Given the description of an element on the screen output the (x, y) to click on. 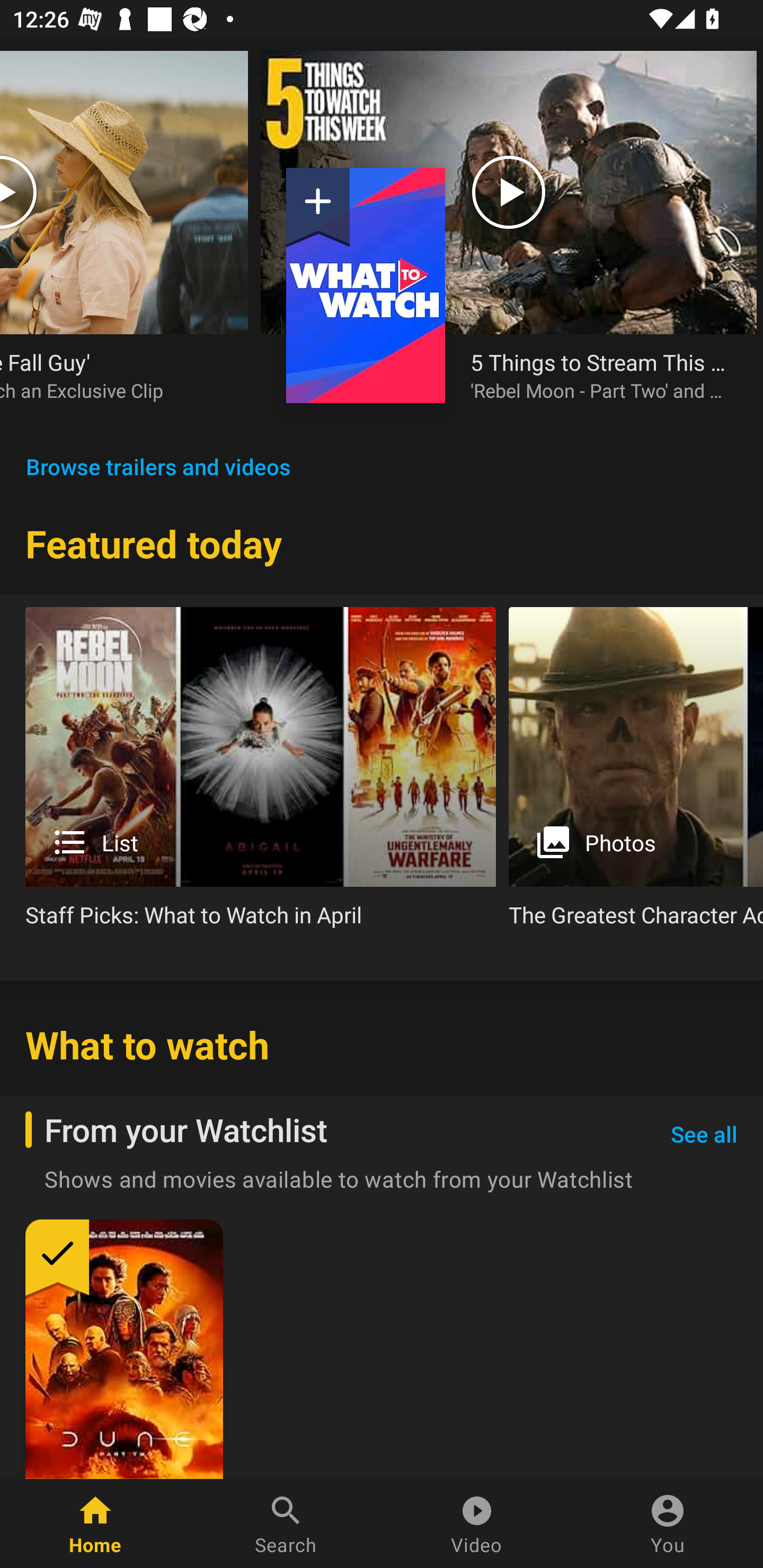
Not in watchlist (365, 284)
Not in watchlist (317, 207)
'The Fall Guy' Watch an Exclusive Clip (111, 374)
List Staff Picks: What to Watch in April (260, 774)
Photos The Greatest Character Actors of All Time (635, 774)
See all See all From your Watchlist (703, 1134)
Search (285, 1523)
Video (476, 1523)
You (667, 1523)
